Given the description of an element on the screen output the (x, y) to click on. 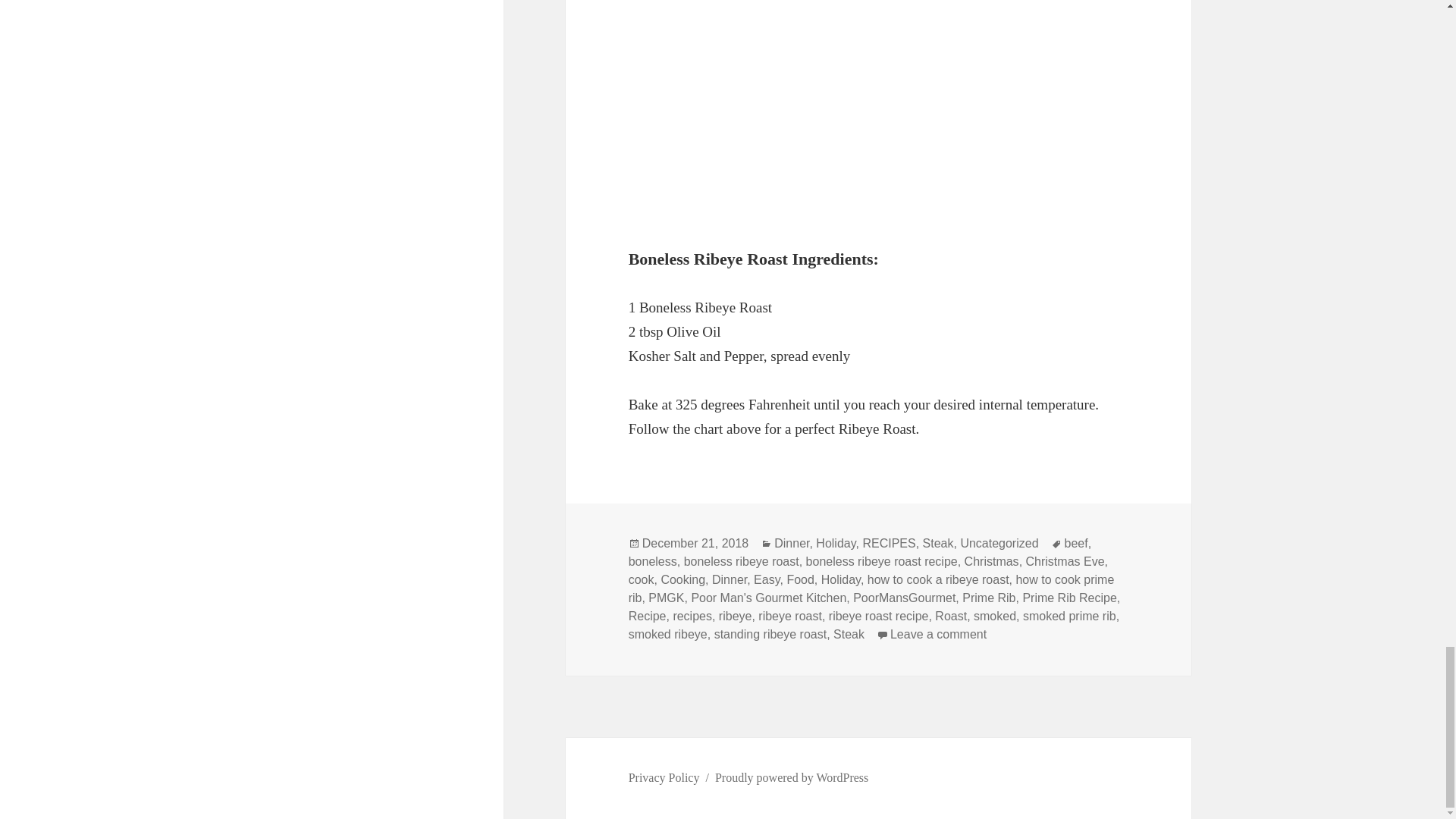
Holiday (840, 580)
Dinner (728, 580)
Cooking (682, 580)
RECIPES (888, 543)
Food (799, 580)
cook (640, 580)
boneless ribeye roast recipe (882, 561)
Holiday (835, 543)
boneless ribeye roast (741, 561)
December 21, 2018 (695, 543)
